Given the description of an element on the screen output the (x, y) to click on. 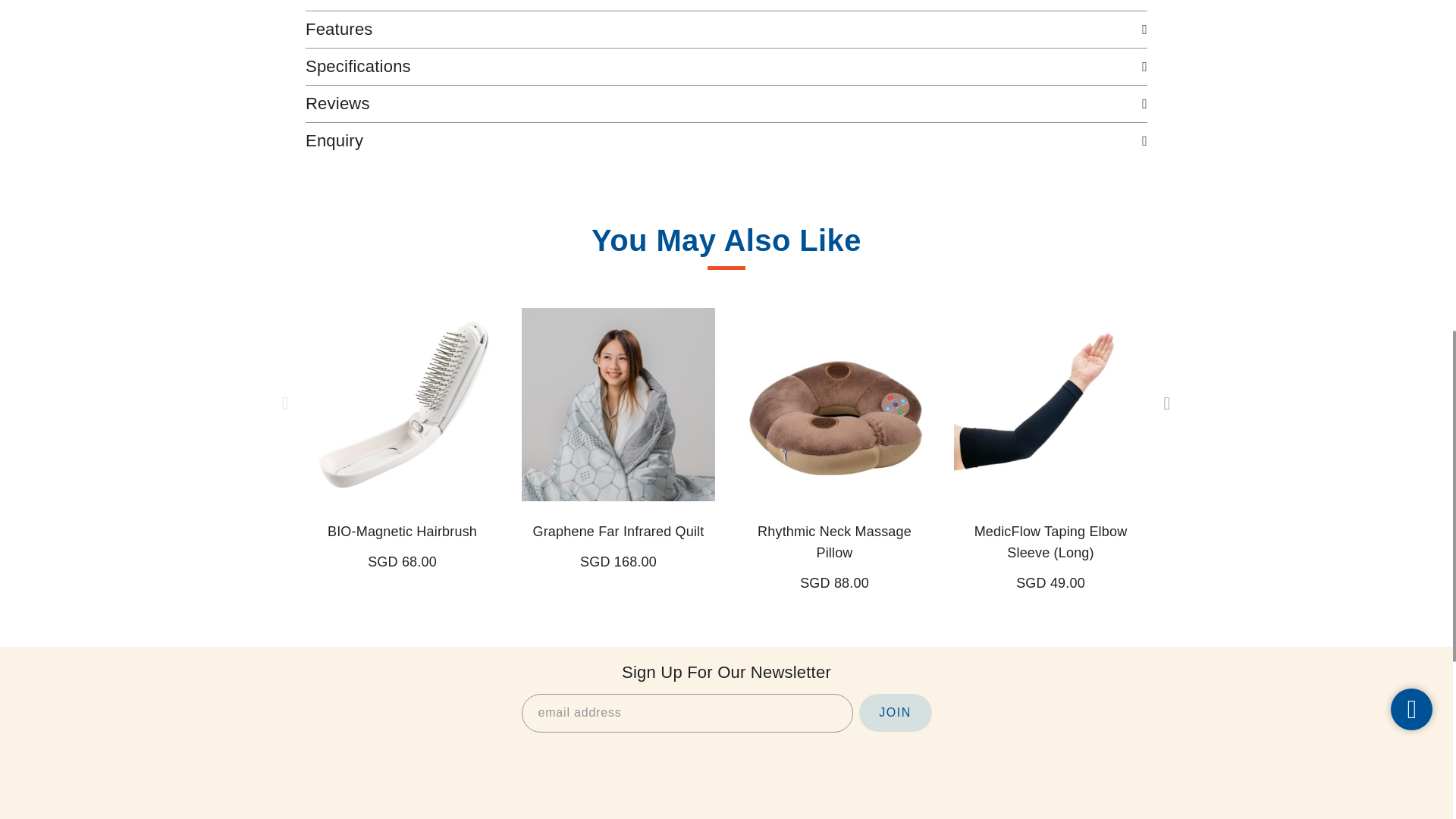
Join (895, 712)
